Given the description of an element on the screen output the (x, y) to click on. 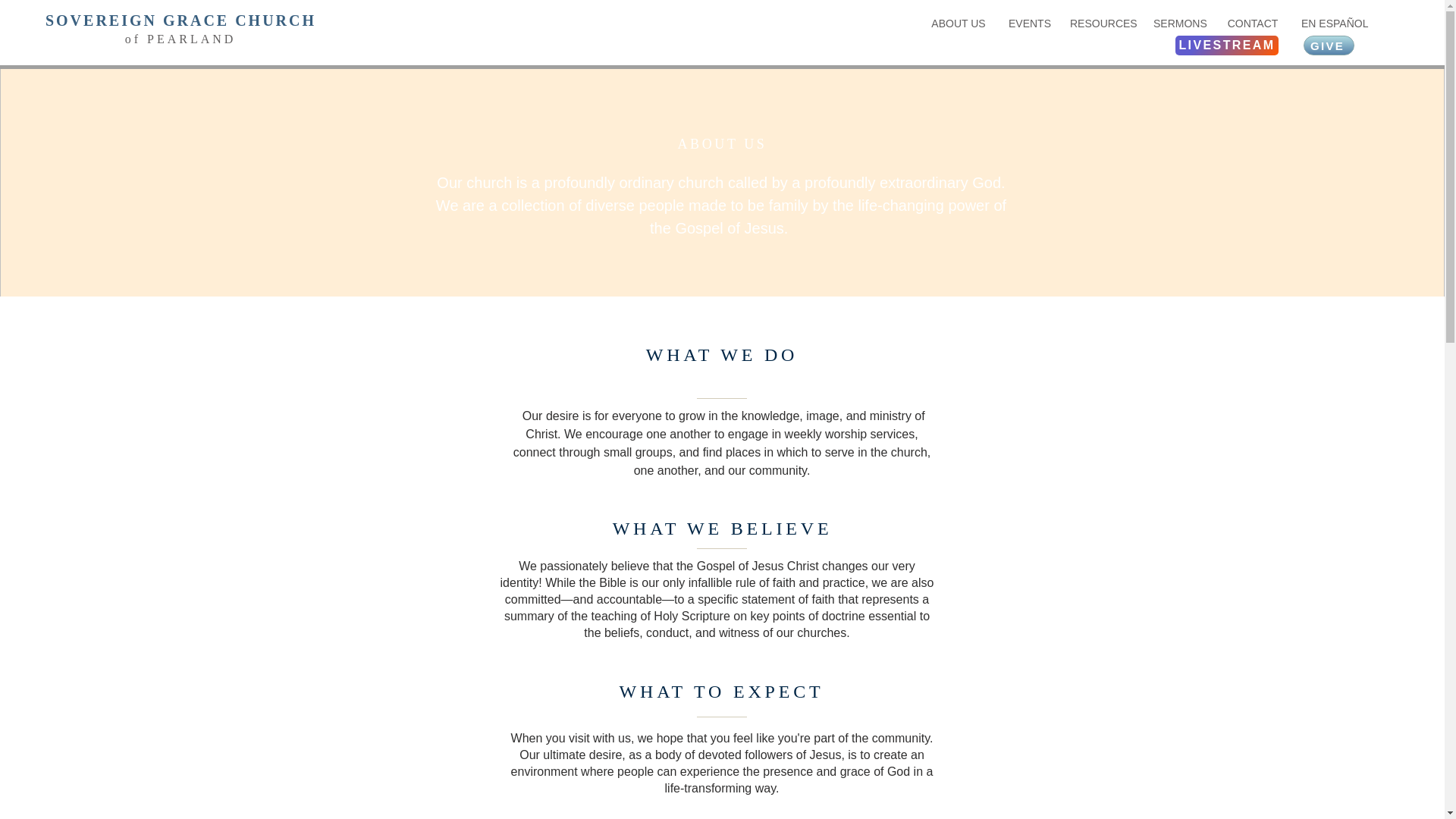
of PEARLAND (180, 38)
LIVESTREAM (1226, 45)
GIVE (1328, 45)
CONTACT (1252, 24)
SOVEREIGN GRACE CHURCH (180, 20)
EVENTS (1027, 24)
SERMONS (1178, 24)
